Given the description of an element on the screen output the (x, y) to click on. 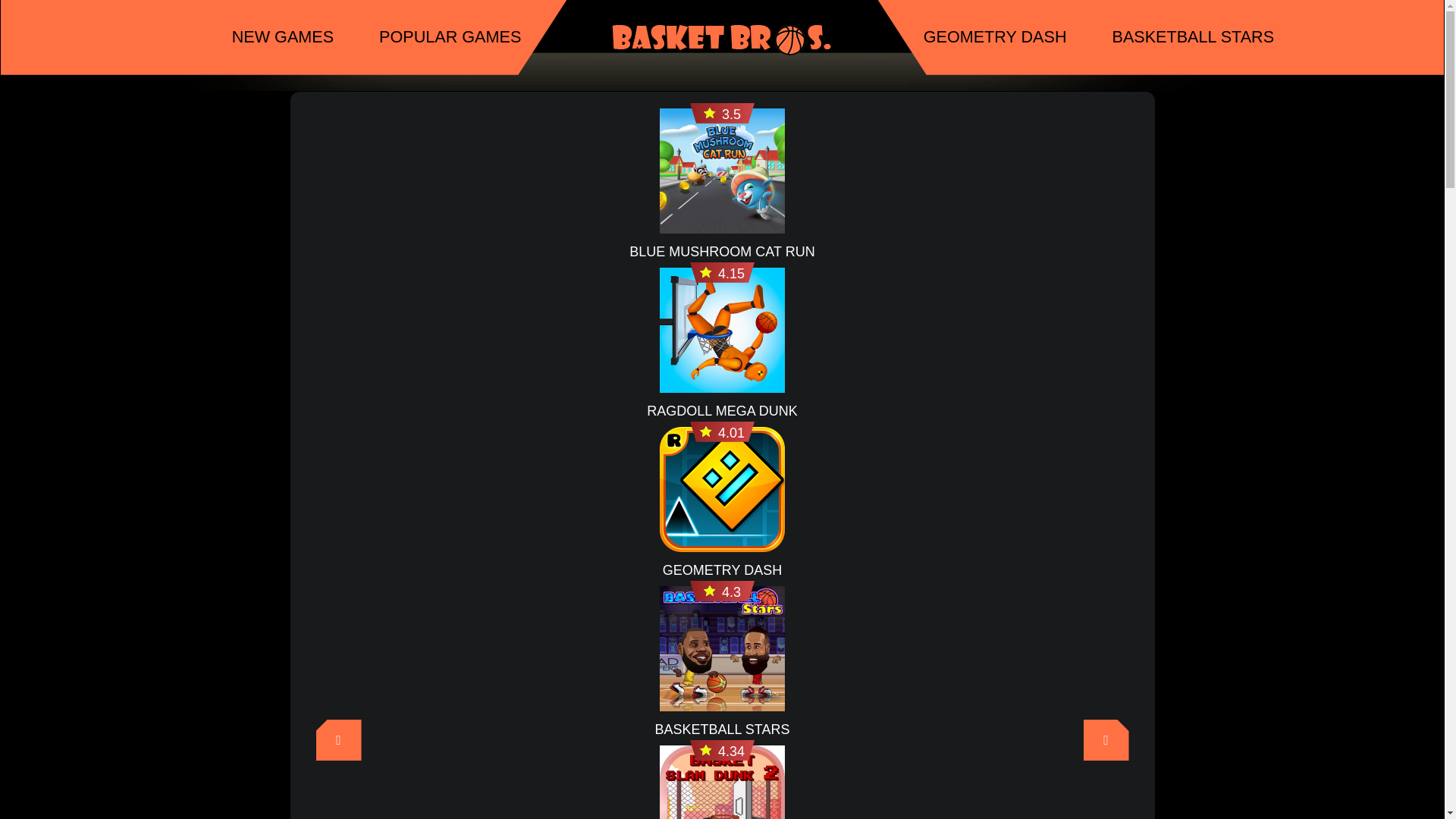
BLUE MUSHROOM CAT RUN (720, 251)
RAGDOLL MEGA DUNK (721, 410)
BASKETBALL STARS (721, 729)
GEOMETRY DASH (721, 569)
BASKETBALL STARS (1193, 37)
GEOMETRY DASH (995, 37)
NEW GAMES (282, 37)
POPULAR GAMES (449, 37)
